Given the description of an element on the screen output the (x, y) to click on. 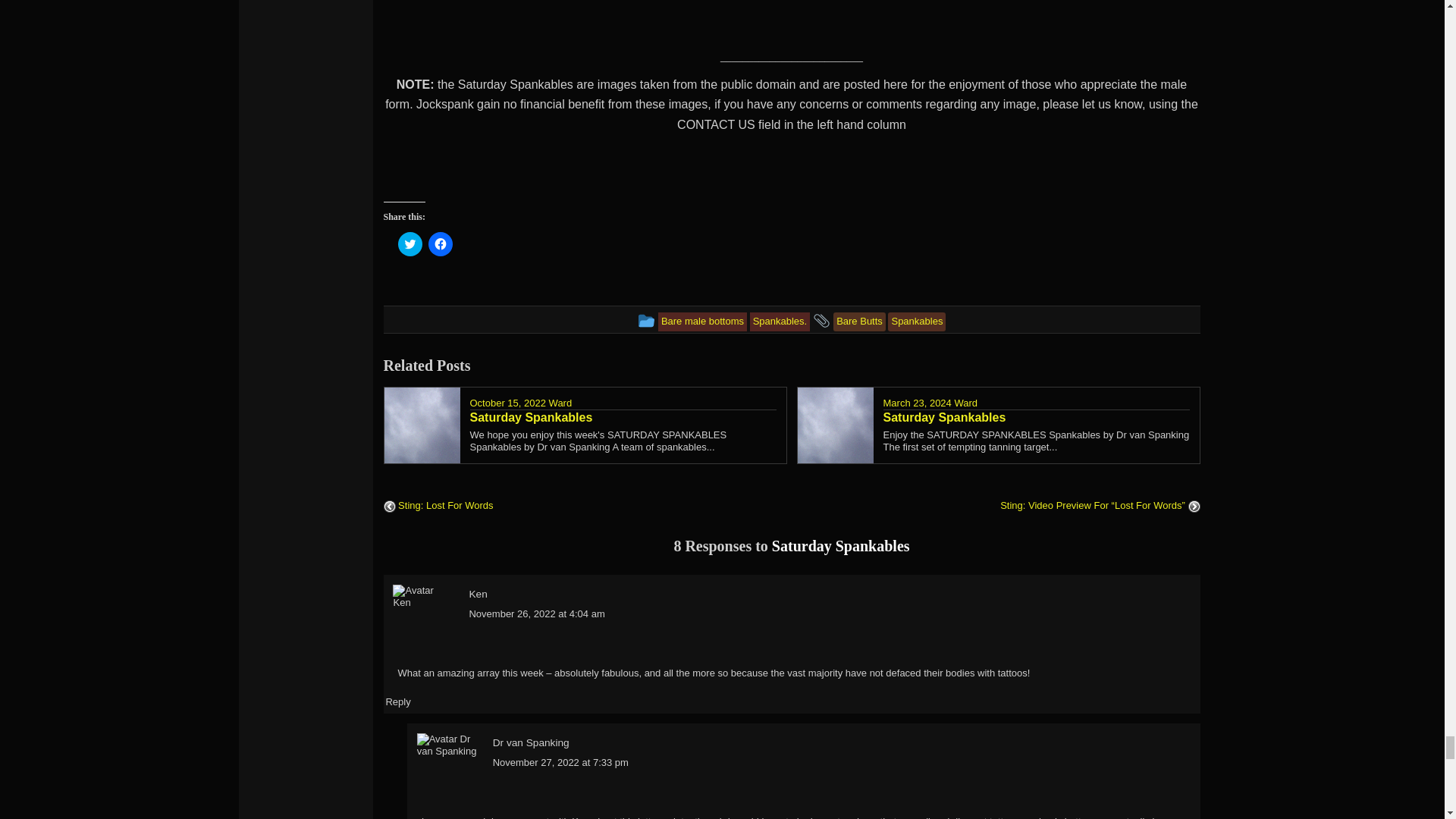
November 26, 2022 at 4:04 am (536, 613)
November 27, 2022 at 7:33 pm (560, 762)
Bare male bottoms (702, 320)
Ward (964, 402)
Spankables. (779, 320)
Dr van Spanking (531, 742)
Sting: Lost For Words (438, 505)
October 15, 2022 (508, 402)
Spankables (916, 320)
Bare Butts (858, 320)
Reply (397, 701)
Saturday Spankables (1035, 417)
March 23, 2024 (916, 402)
Ward (560, 402)
Saturday Spankables (623, 417)
